Given the description of an element on the screen output the (x, y) to click on. 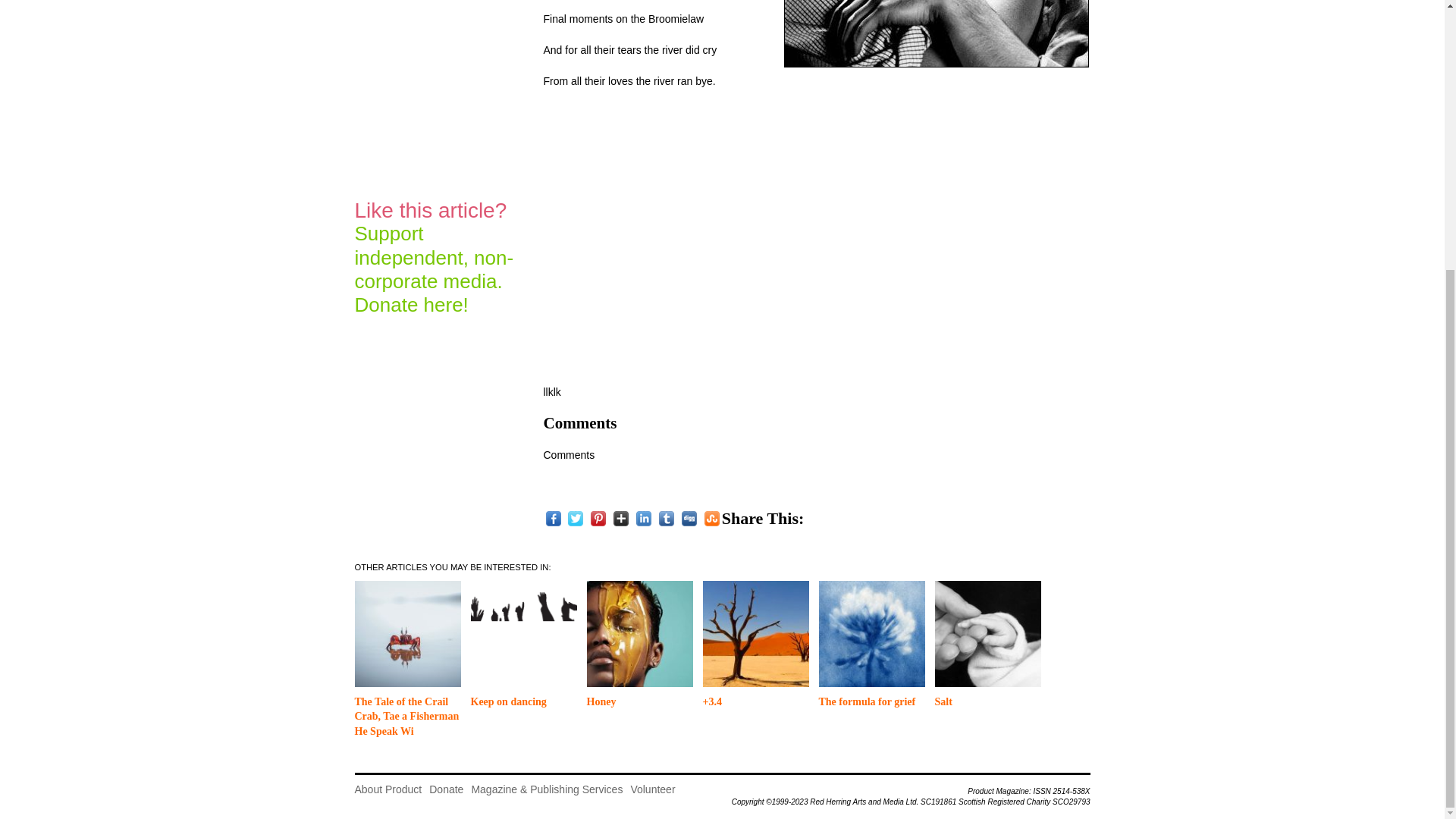
Keep on dancing (523, 632)
The Tale of the Crail Crab, Tae a Fisherman He Speak Wi (407, 716)
Salt (943, 701)
Salt (987, 632)
The formula for grief (871, 632)
Keep on dancing (508, 701)
Honey (639, 632)
The Tale of the Crail Crab, Tae a Fisherman He Speak Wi (408, 632)
Honey (600, 701)
The formula for grief (866, 701)
